Given the description of an element on the screen output the (x, y) to click on. 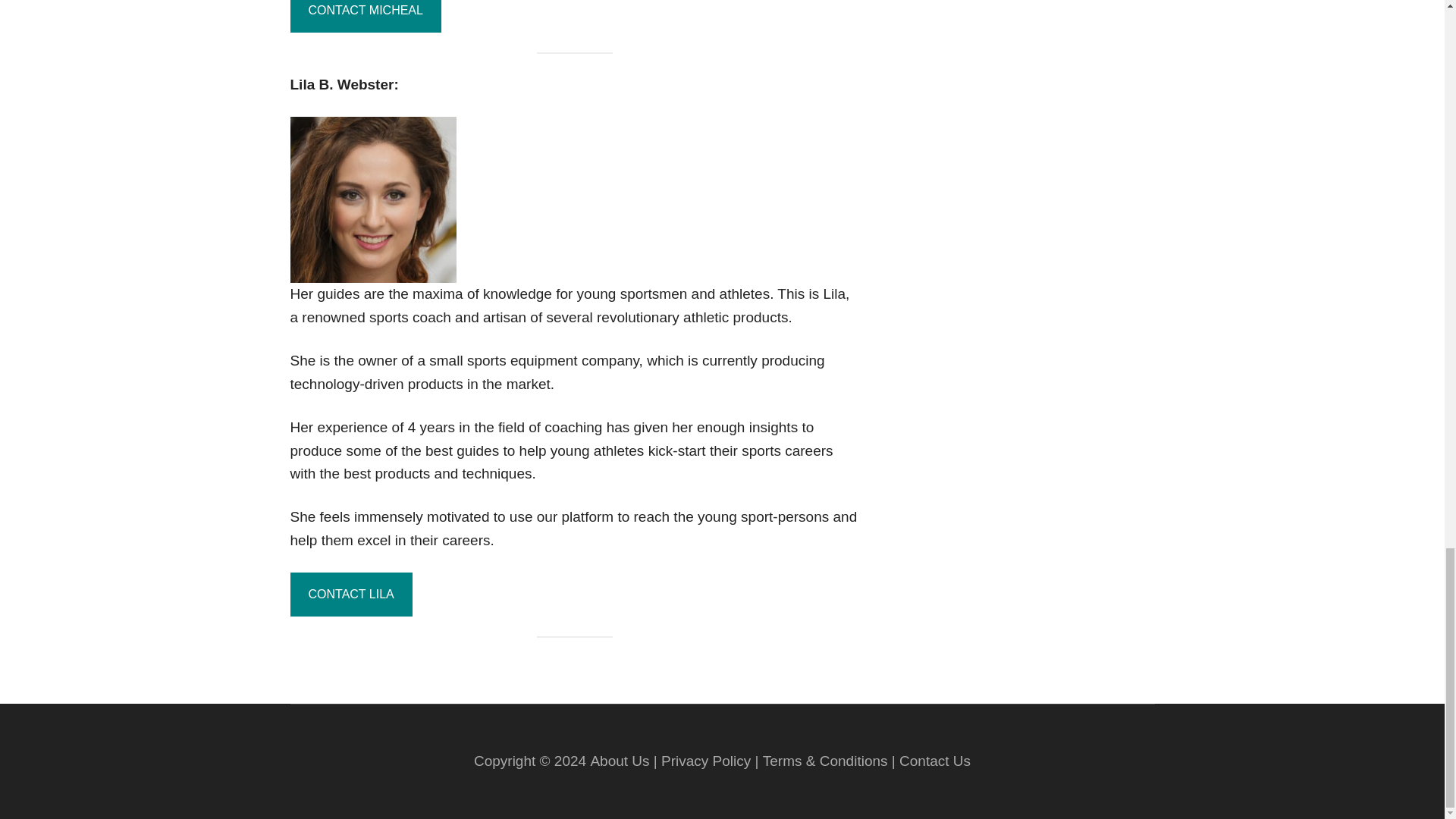
Contact Us (935, 760)
CONTACT LILA (350, 594)
Privacy Policy (706, 760)
About Us (619, 760)
CONTACT MICHEAL (365, 16)
